Given the description of an element on the screen output the (x, y) to click on. 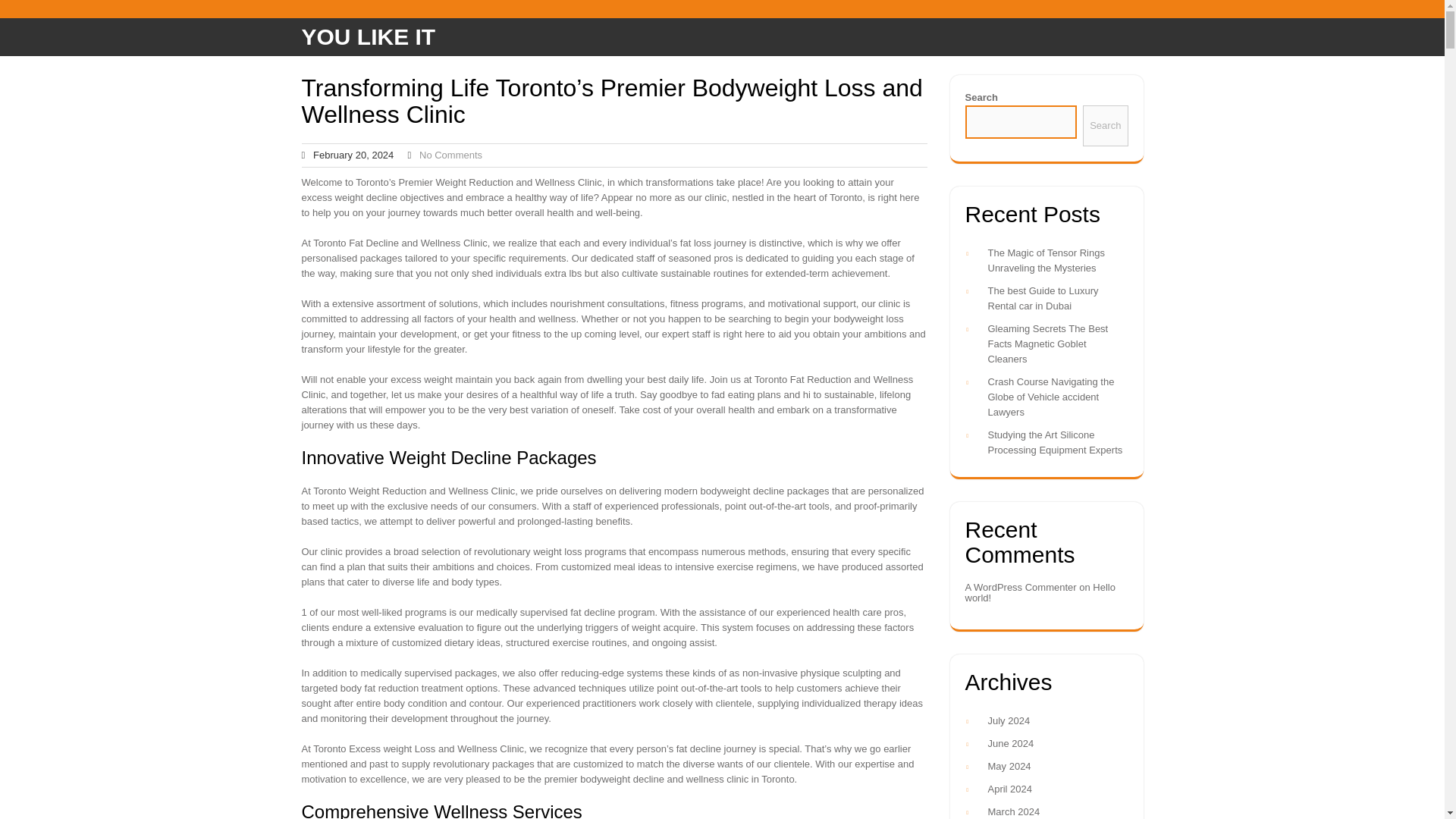
Studying the Art Silicone Processing Equipment Experts (1054, 442)
June 2024 (1010, 743)
The best Guide to Luxury Rental car in Dubai (1042, 298)
May 2024 (1008, 766)
Search (1104, 125)
No Comments (450, 154)
The Magic of Tensor Rings Unraveling the Mysteries (1045, 260)
A WordPress Commenter (1019, 586)
Gleaming Secrets The Best Facts Magnetic Goblet Cleaners (1047, 343)
March 2024 (1013, 811)
YOU LIKE IT (368, 36)
April 2024 (1009, 788)
July 2024 (1008, 720)
Hello world! (1039, 592)
